Given the description of an element on the screen output the (x, y) to click on. 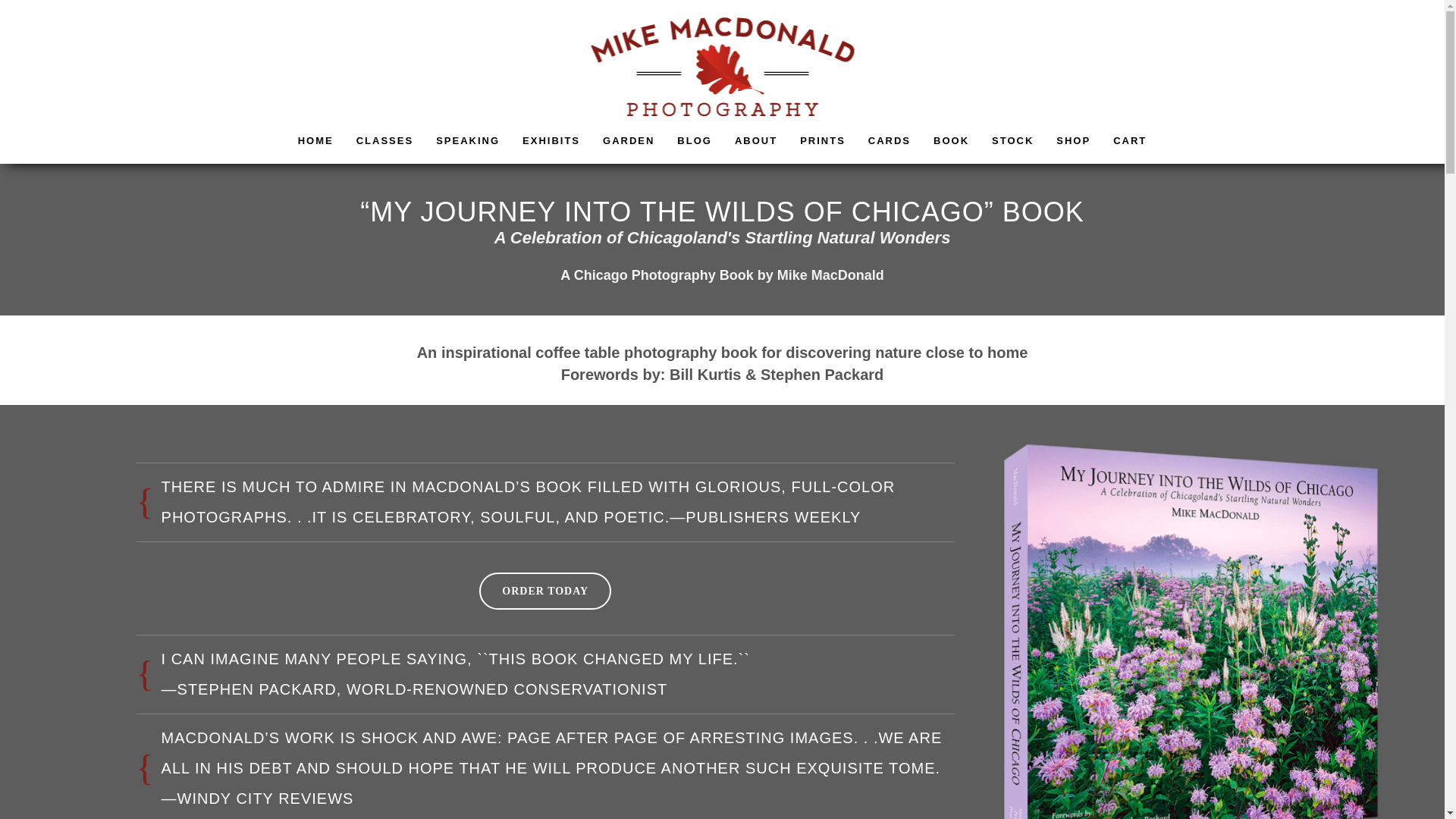
EXHIBITS (551, 140)
PRINTS (823, 140)
BOOK (950, 140)
SPEAKING (468, 140)
BLOG (694, 140)
SHOP (1073, 140)
STOCK (1012, 140)
ABOUT (756, 140)
CARDS (889, 140)
HOME (315, 140)
CLASSES (385, 140)
GARDEN (628, 140)
CART (1129, 140)
